Given the description of an element on the screen output the (x, y) to click on. 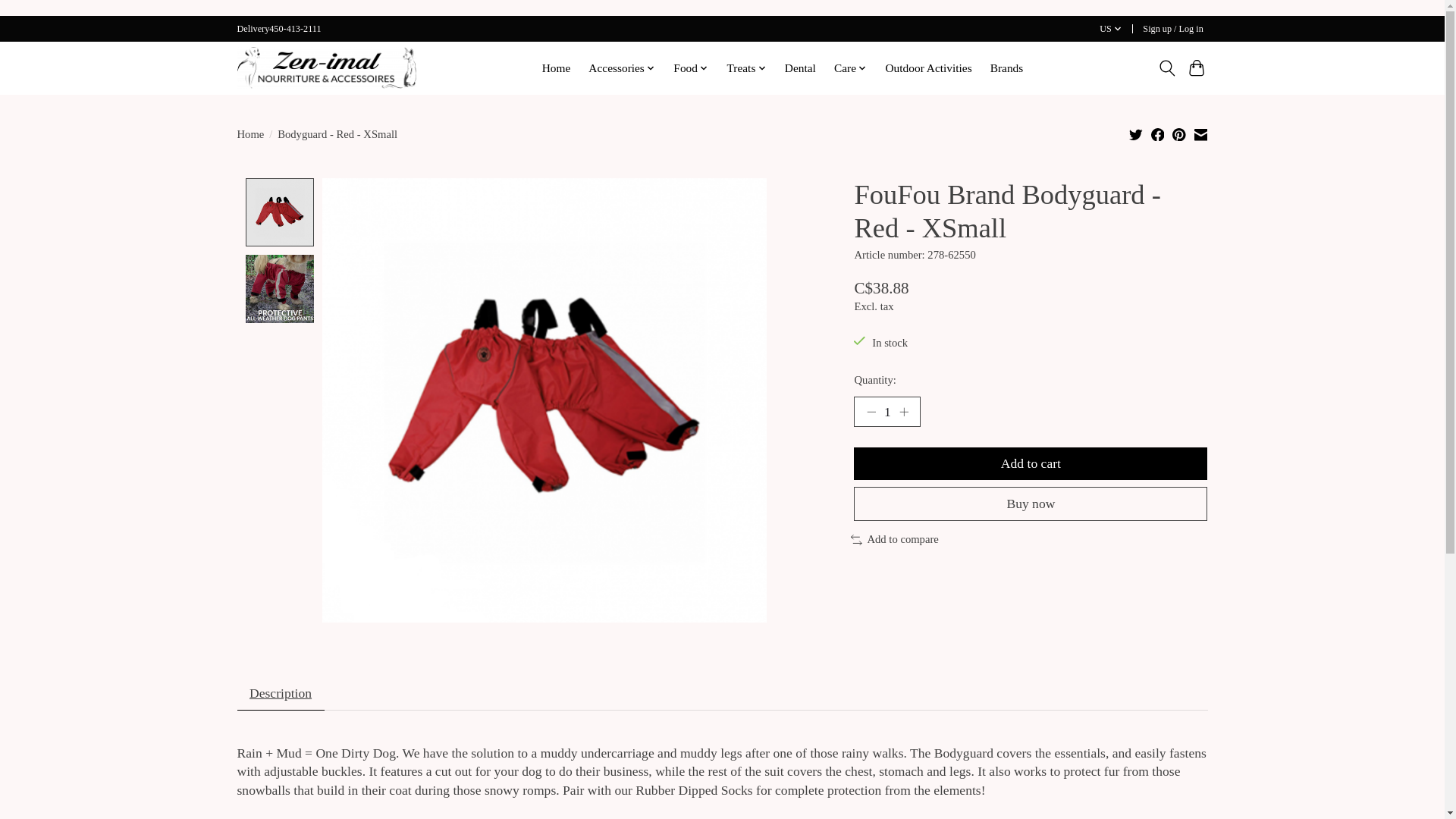
Share by Email (1200, 133)
Food (691, 67)
1 (886, 411)
Share on Facebook (1157, 133)
Share on Twitter (1135, 133)
Cat food, dog food and accessories (324, 67)
Home (555, 67)
Accessories (622, 67)
My account (1173, 28)
US (1109, 28)
Share on Pinterest (1178, 133)
